Given the description of an element on the screen output the (x, y) to click on. 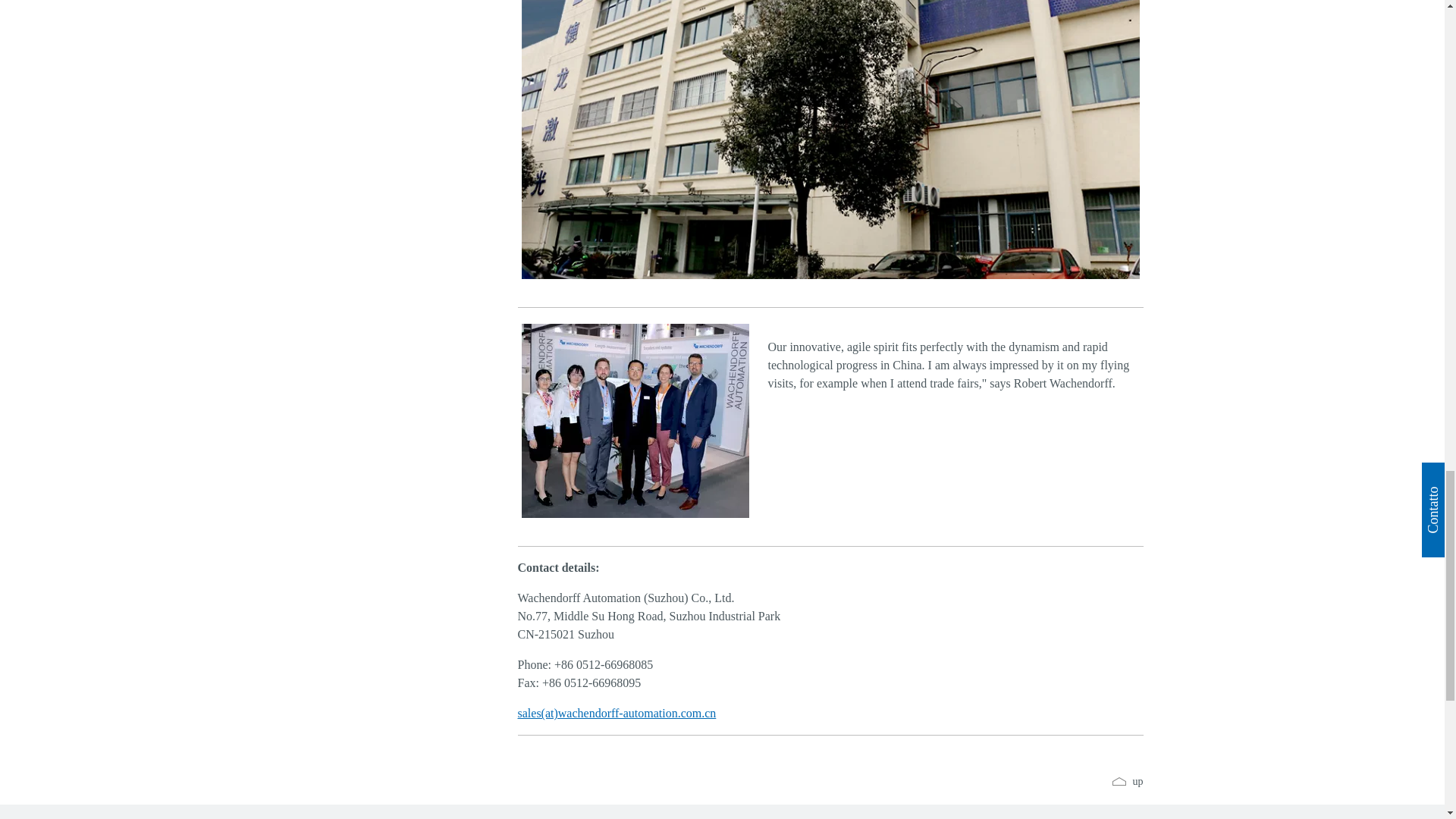
up (1127, 781)
